Given the description of an element on the screen output the (x, y) to click on. 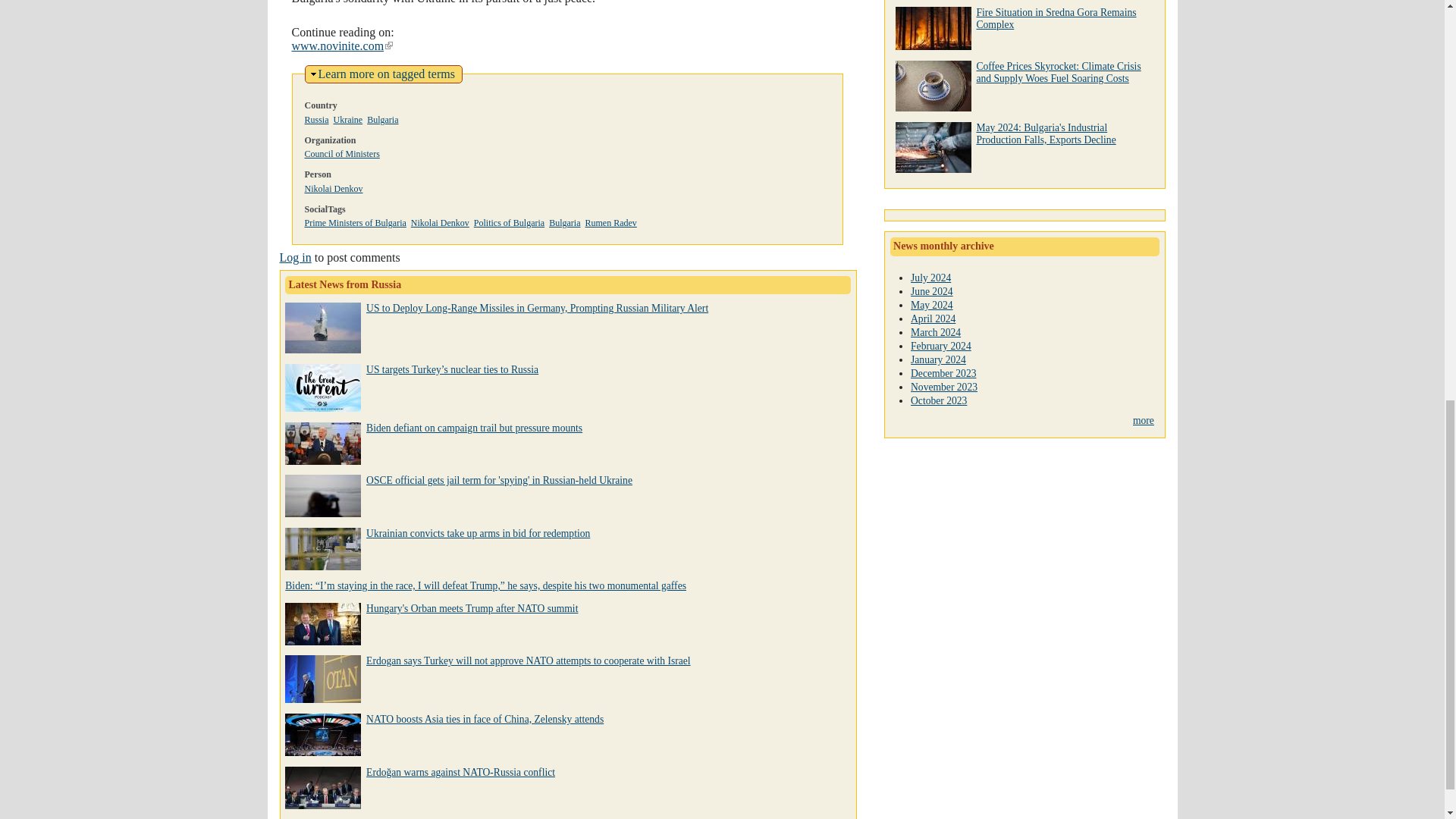
Rumen Radev (610, 222)
Politics of Bulgaria (509, 222)
Council of Ministers (342, 153)
Bulgaria (563, 222)
Prime Ministers of Bulgaria (355, 222)
Nikolai Denkov (333, 188)
Russia (316, 119)
Log in (386, 73)
Ukraine (295, 256)
Biden defiant on campaign trail but pressure mounts (347, 119)
Bulgaria (474, 427)
Nikolai Denkov (381, 119)
